Given the description of an element on the screen output the (x, y) to click on. 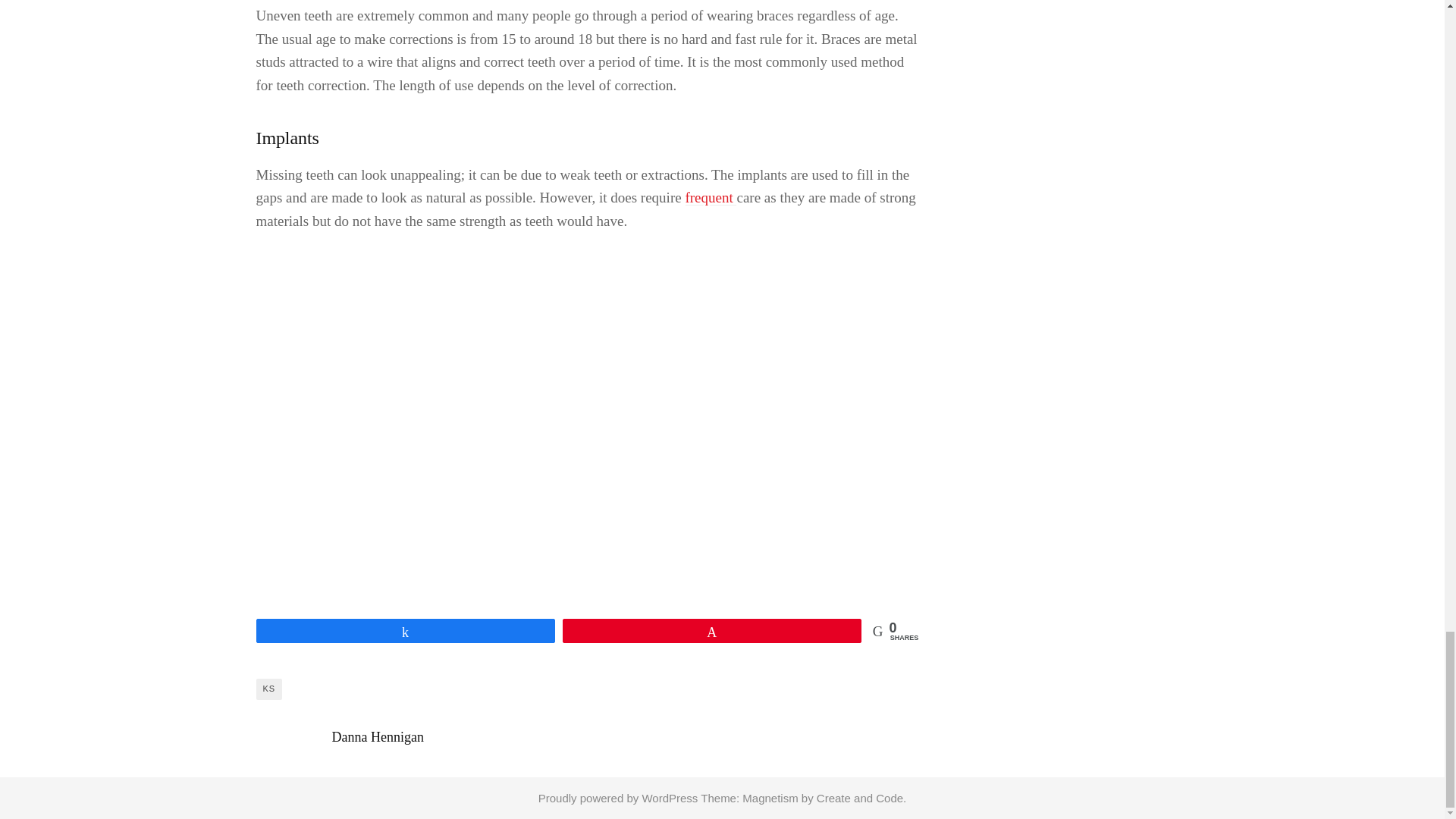
KS (269, 688)
frequent (710, 198)
